Given the description of an element on the screen output the (x, y) to click on. 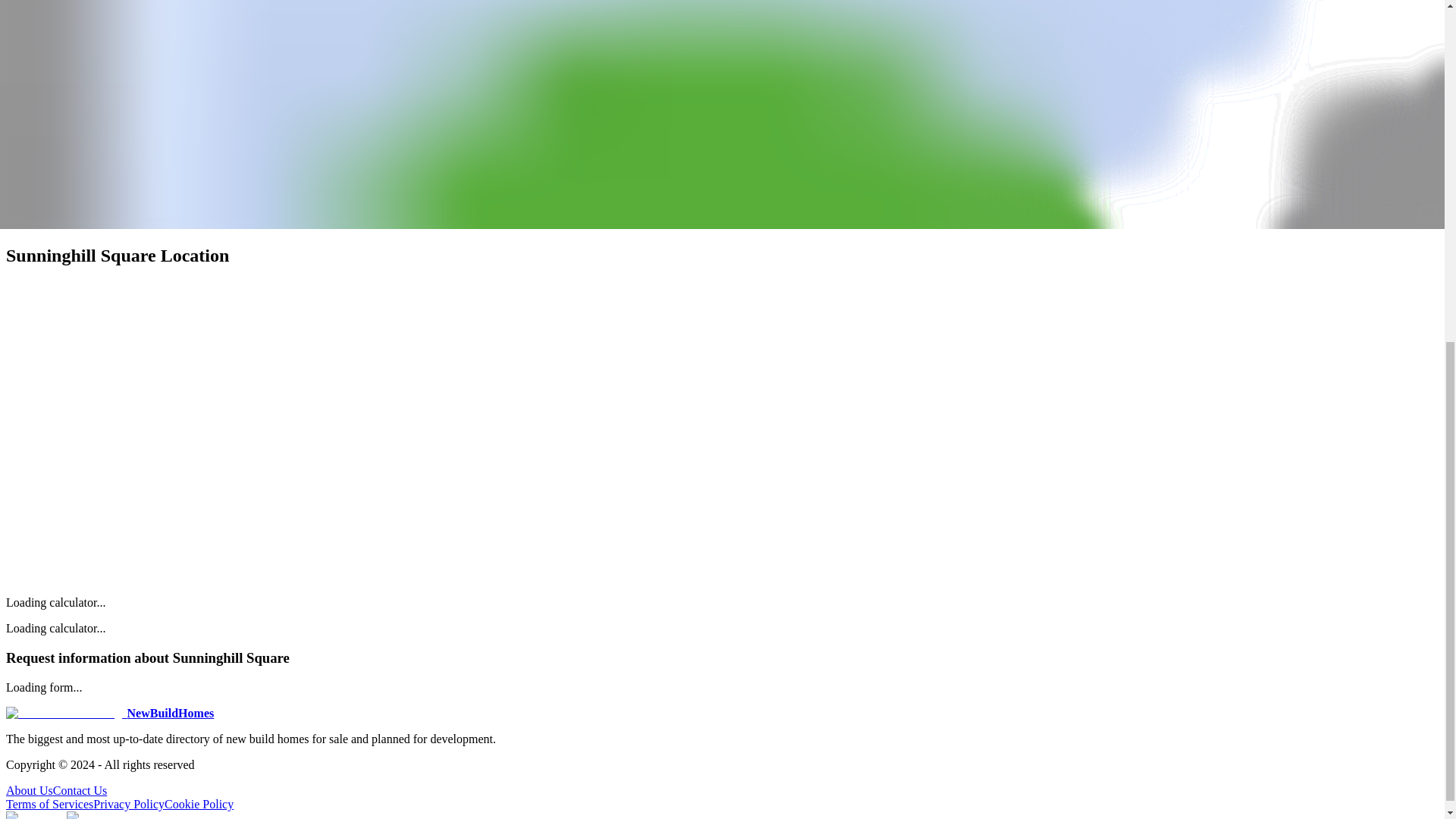
NewBuildHomes (109, 712)
Cookie Policy (198, 803)
Privacy Policy (128, 803)
Secondary (82, 28)
About Us (28, 789)
Primary (28, 28)
Terms of Services (49, 803)
Contact Us (79, 789)
All (17, 204)
